Given the description of an element on the screen output the (x, y) to click on. 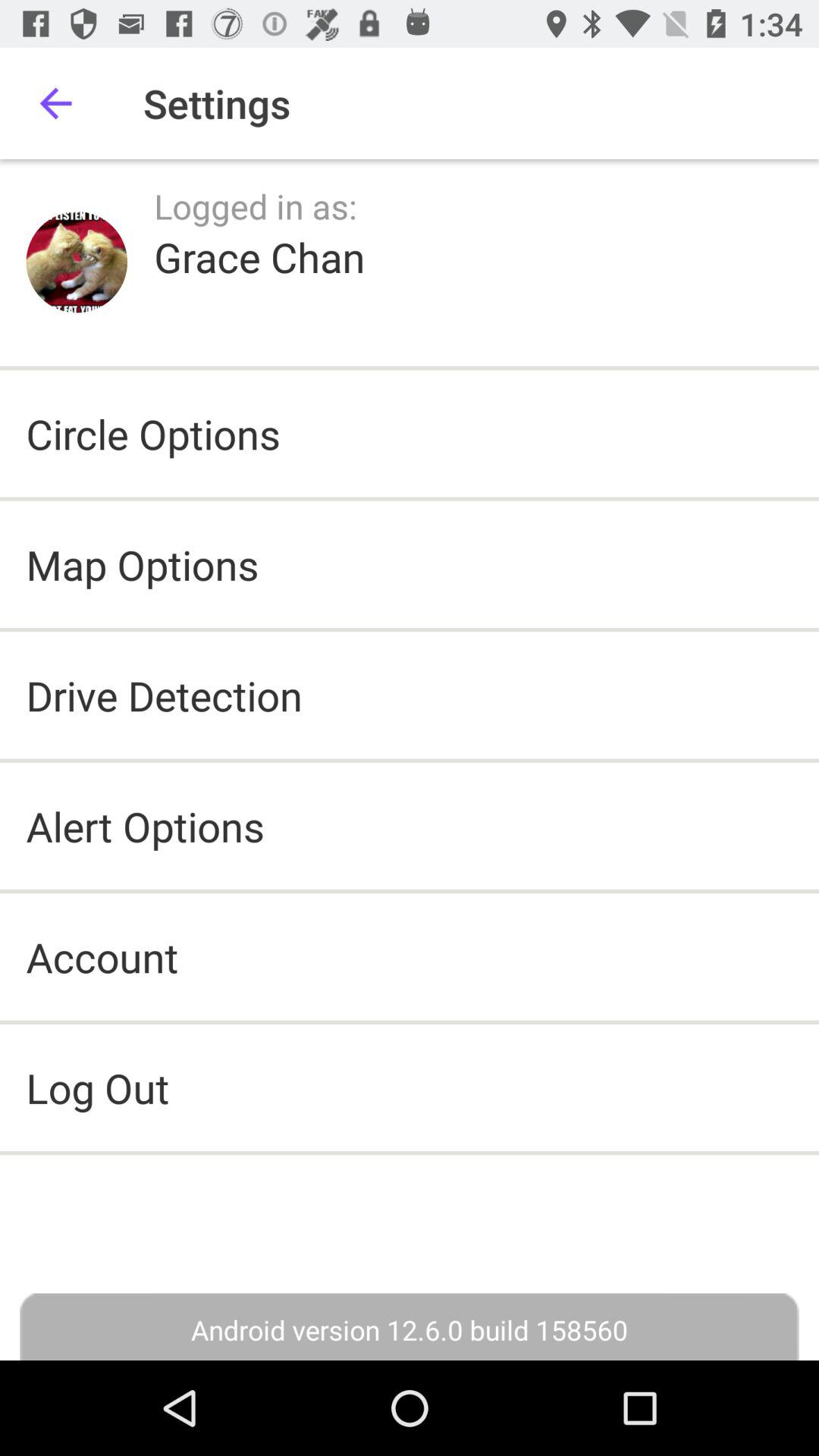
jump to the alert options (145, 825)
